Given the description of an element on the screen output the (x, y) to click on. 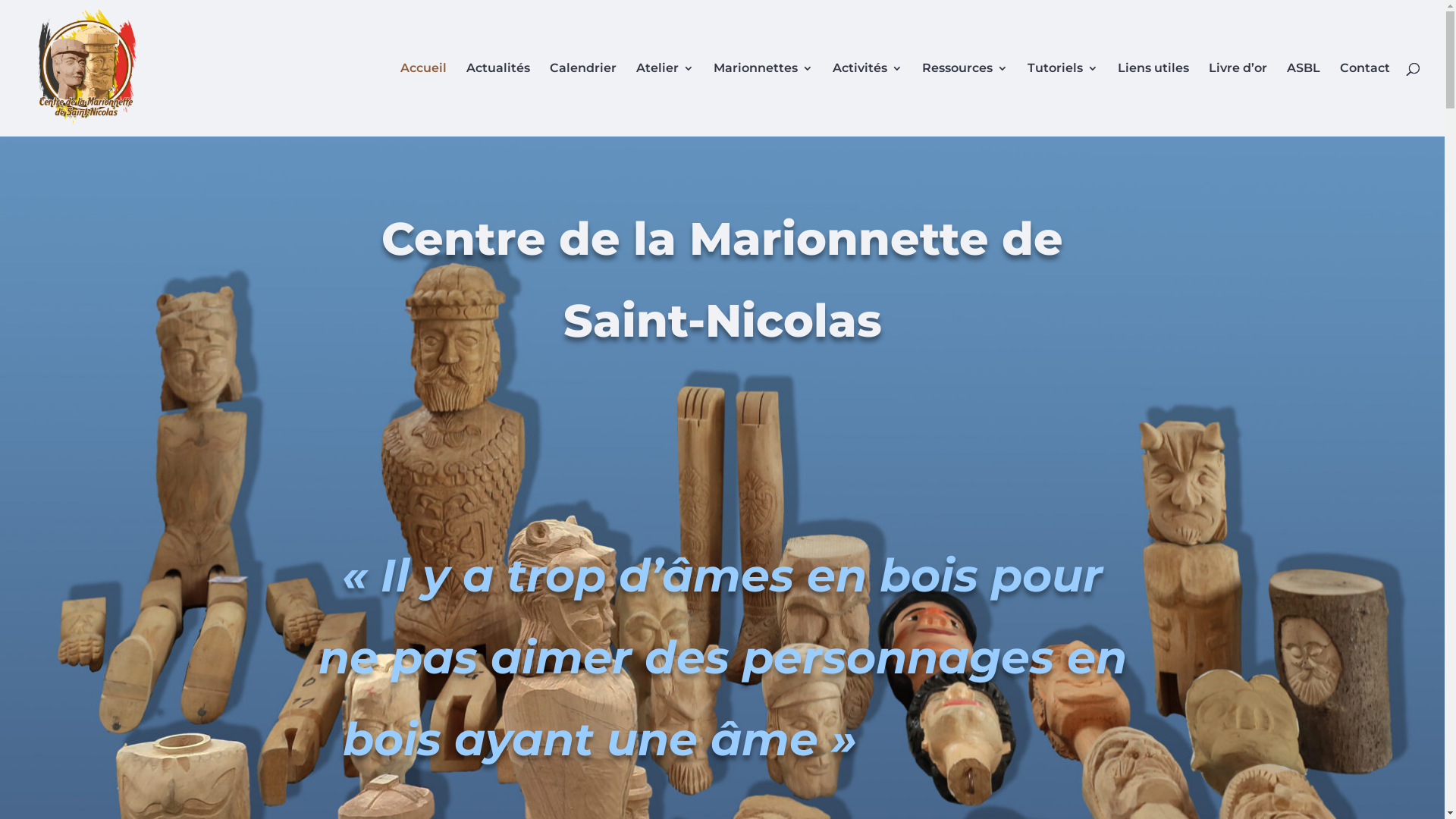
Liens utiles Element type: text (1153, 99)
Ressources Element type: text (964, 99)
Contact Element type: text (1364, 99)
Atelier Element type: text (664, 99)
Accueil Element type: text (423, 99)
ASBL Element type: text (1303, 99)
Tutoriels Element type: text (1062, 99)
Marionnettes Element type: text (762, 99)
Calendrier Element type: text (582, 99)
